Given the description of an element on the screen output the (x, y) to click on. 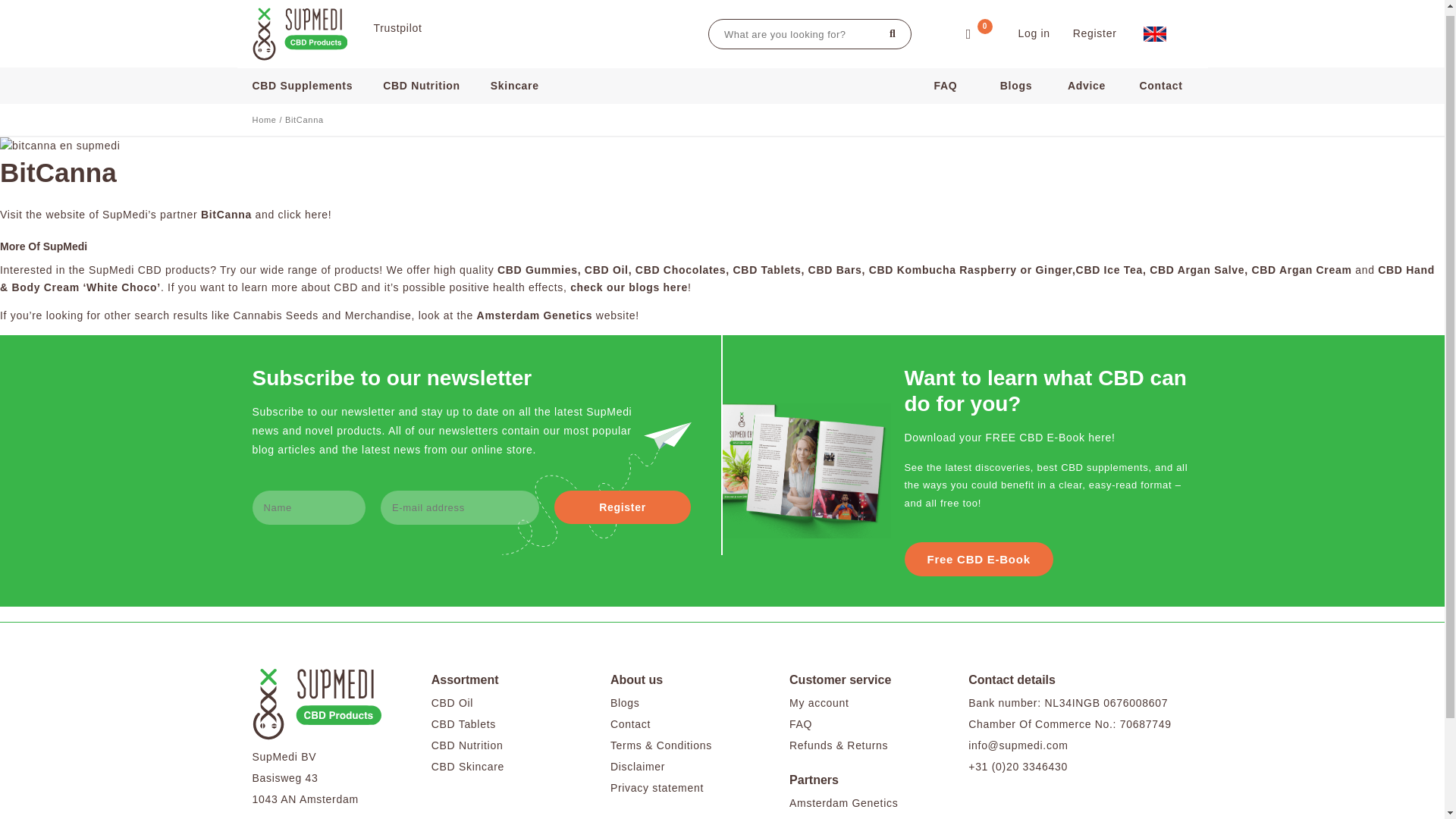
Engels (1154, 28)
Blogs (1016, 79)
FAQ (944, 79)
Trustpilot (397, 21)
Advice (1086, 79)
CBD Supplements (313, 79)
SupMedi (300, 27)
CBD Nutrition (429, 79)
Log in (1033, 27)
Register (622, 506)
Register (1094, 27)
Skincare (522, 79)
